Given the description of an element on the screen output the (x, y) to click on. 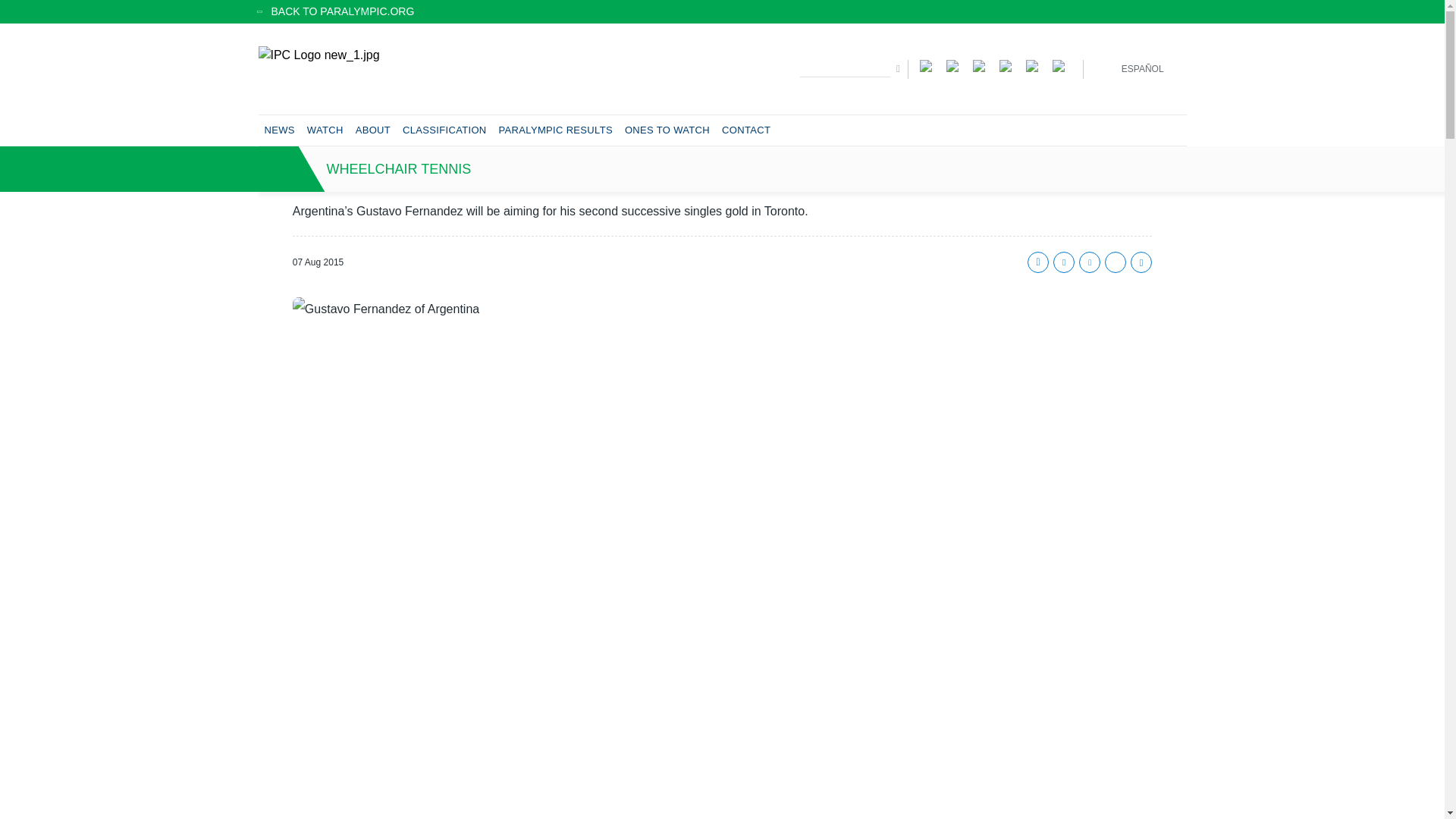
Facebook (929, 64)
Newsletter Subscribe (1061, 64)
Email (1089, 261)
Youtube (1007, 64)
Instagram (955, 64)
BACK TO PARALYMPIC.ORG (721, 11)
Linkedin (1115, 261)
Twitter (1063, 261)
ONES TO WATCH (667, 129)
TikTok (1035, 64)
Enter the terms you wish to search for. (844, 67)
ABOUT (372, 129)
Instagram (955, 64)
TikTok (1035, 64)
